Given the description of an element on the screen output the (x, y) to click on. 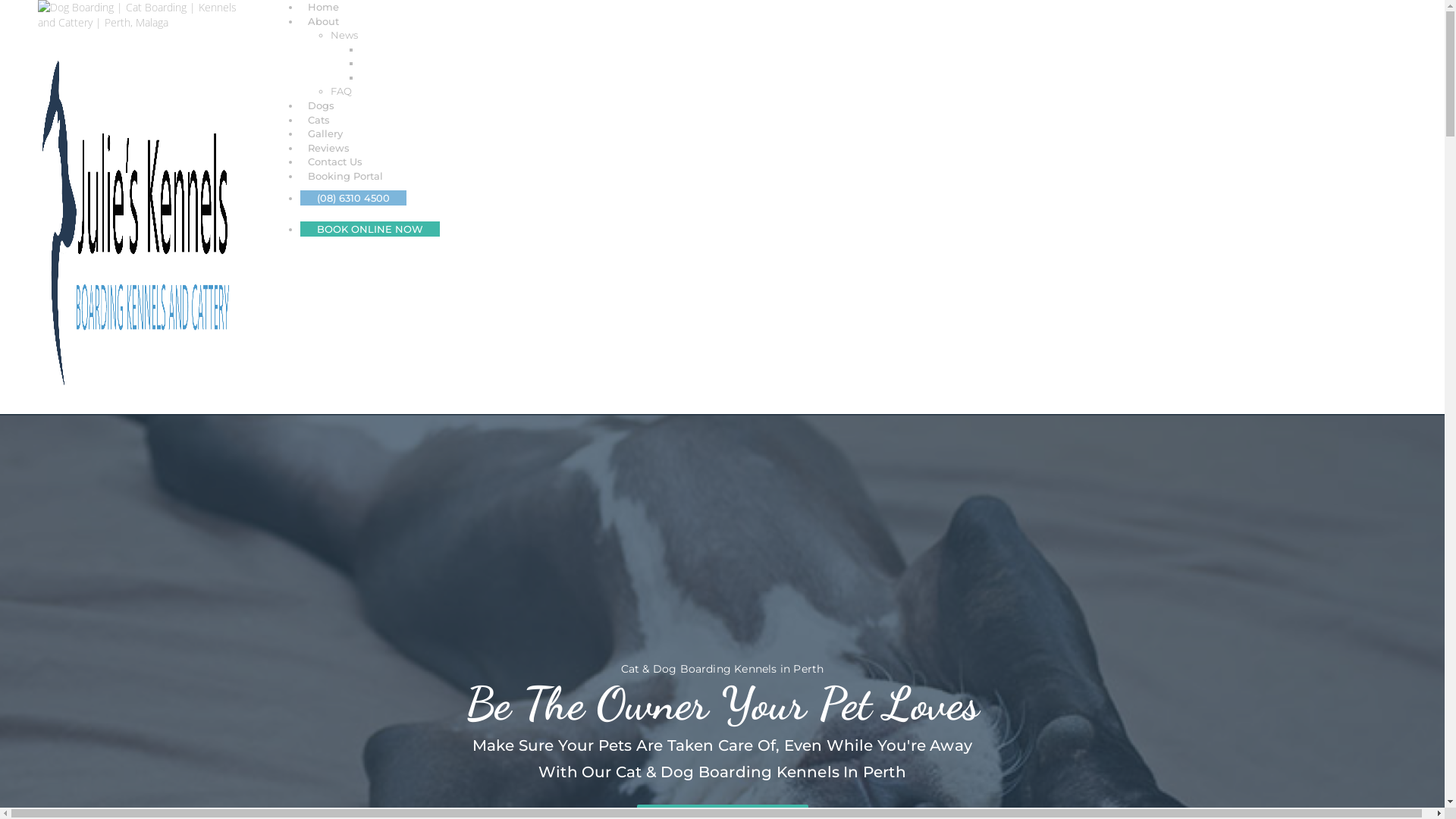
(08) 6310 4500 Element type: text (353, 197)
FAQ Element type: text (340, 90)
News Element type: text (343, 34)
Dogs Element type: text (321, 105)
Cats Element type: text (318, 119)
Home Element type: text (323, 6)
Reviews Element type: text (328, 147)
Booking Portal Element type: text (345, 175)
Contact Us Element type: text (335, 161)
BOOK ONLINE NOW Element type: text (369, 228)
About Element type: text (323, 21)
Gallery Element type: text (325, 133)
